Given the description of an element on the screen output the (x, y) to click on. 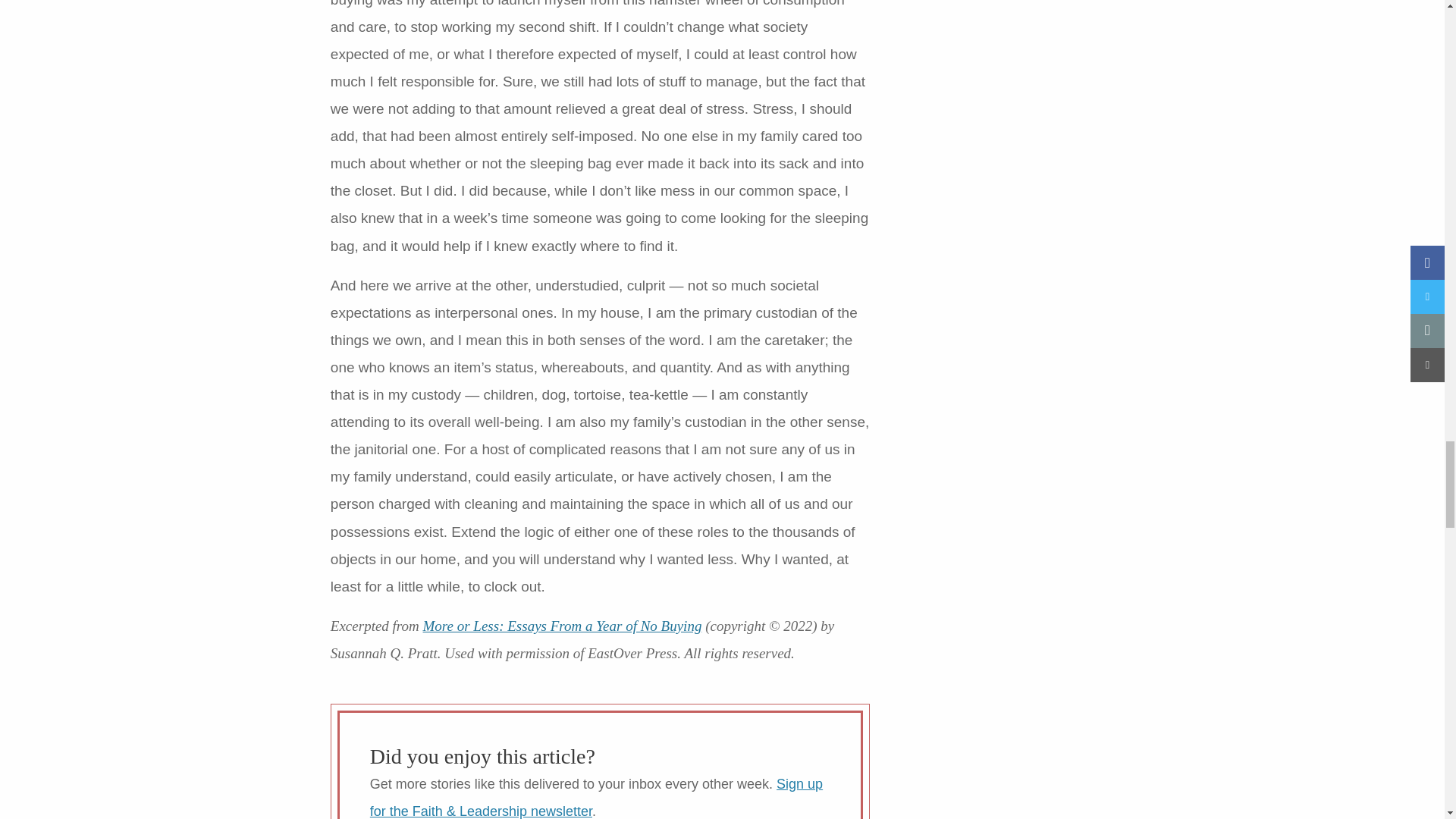
More or Less: Essays From a Year of No Buying (562, 625)
